Given the description of an element on the screen output the (x, y) to click on. 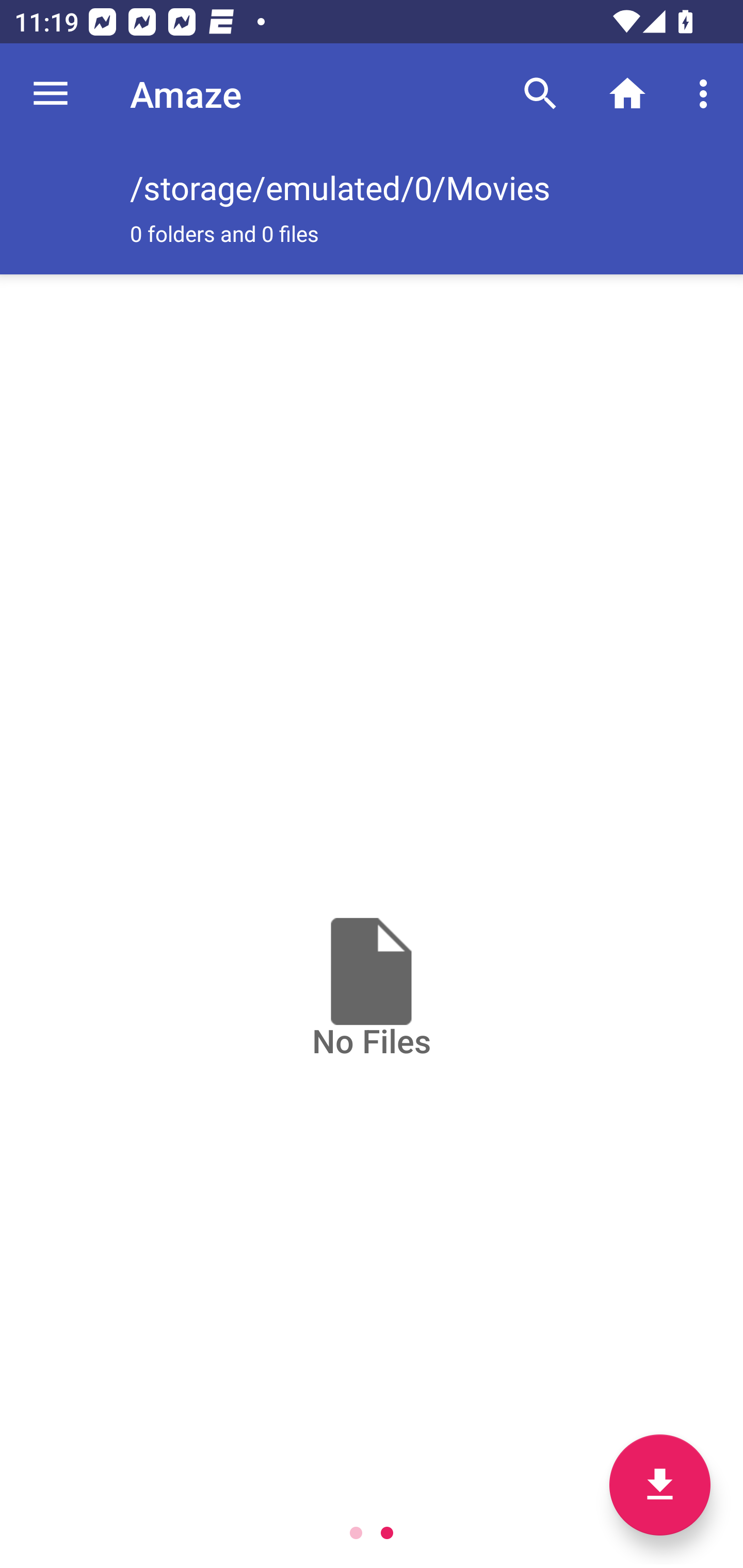
Navigate up (50, 93)
Search (540, 93)
Home (626, 93)
More options (706, 93)
